Given the description of an element on the screen output the (x, y) to click on. 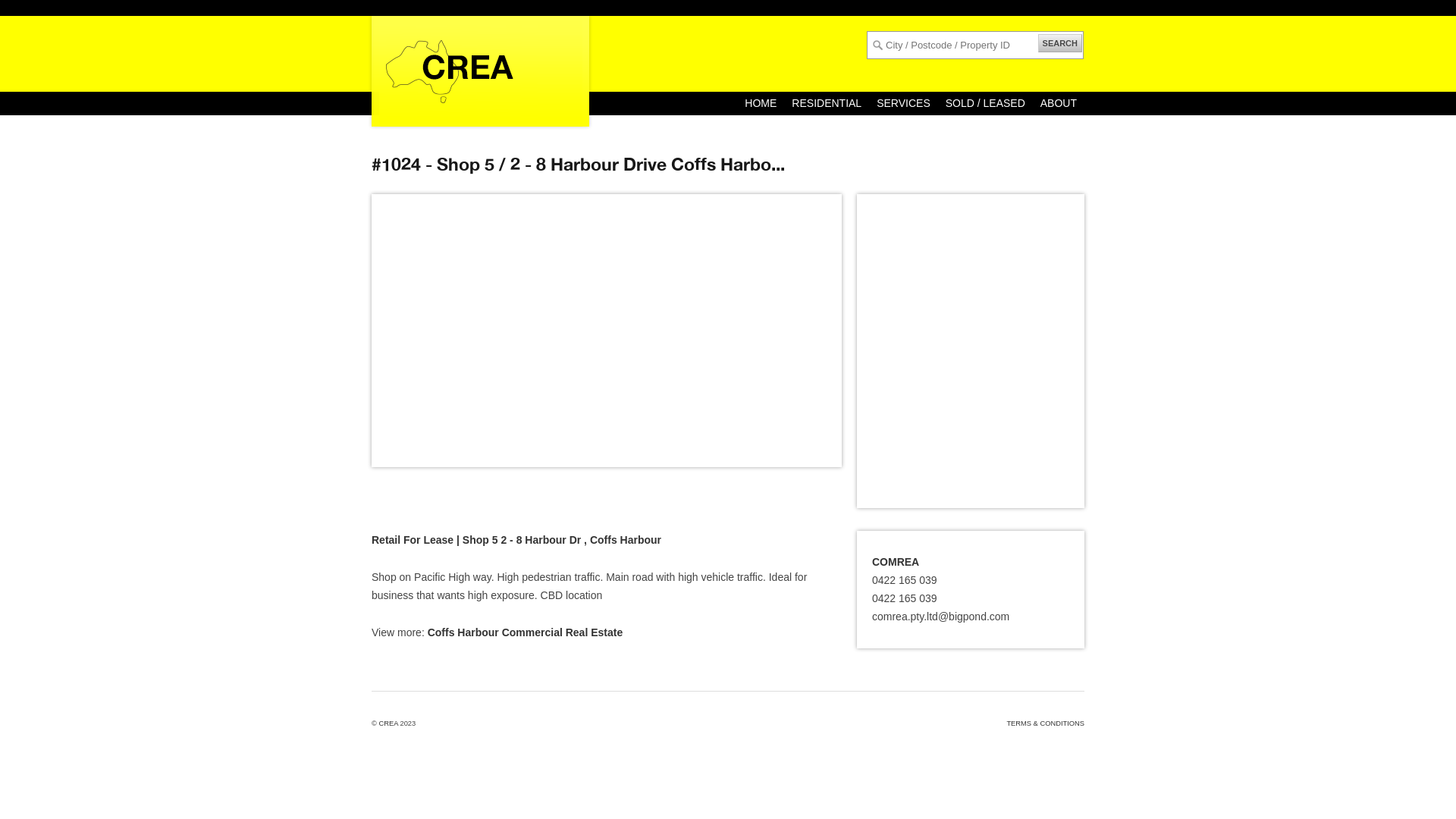
SEARCH Element type: text (1060, 43)
TERMS & CONDITIONS Element type: text (1045, 723)
Coffs Harbour Element type: text (625, 539)
ABOUT Element type: text (1058, 103)
RESIDENTIAL Element type: text (826, 103)
Coffs Harbour Commercial Real Estate Element type: text (525, 632)
HOME Element type: text (760, 103)
Commercial Real Estate Australia Element type: text (480, 68)
SERVICES Element type: text (903, 103)
Search Element type: text (32, 12)
SOLD / LEASED Element type: text (985, 103)
CREA Element type: text (387, 723)
